Given the description of an element on the screen output the (x, y) to click on. 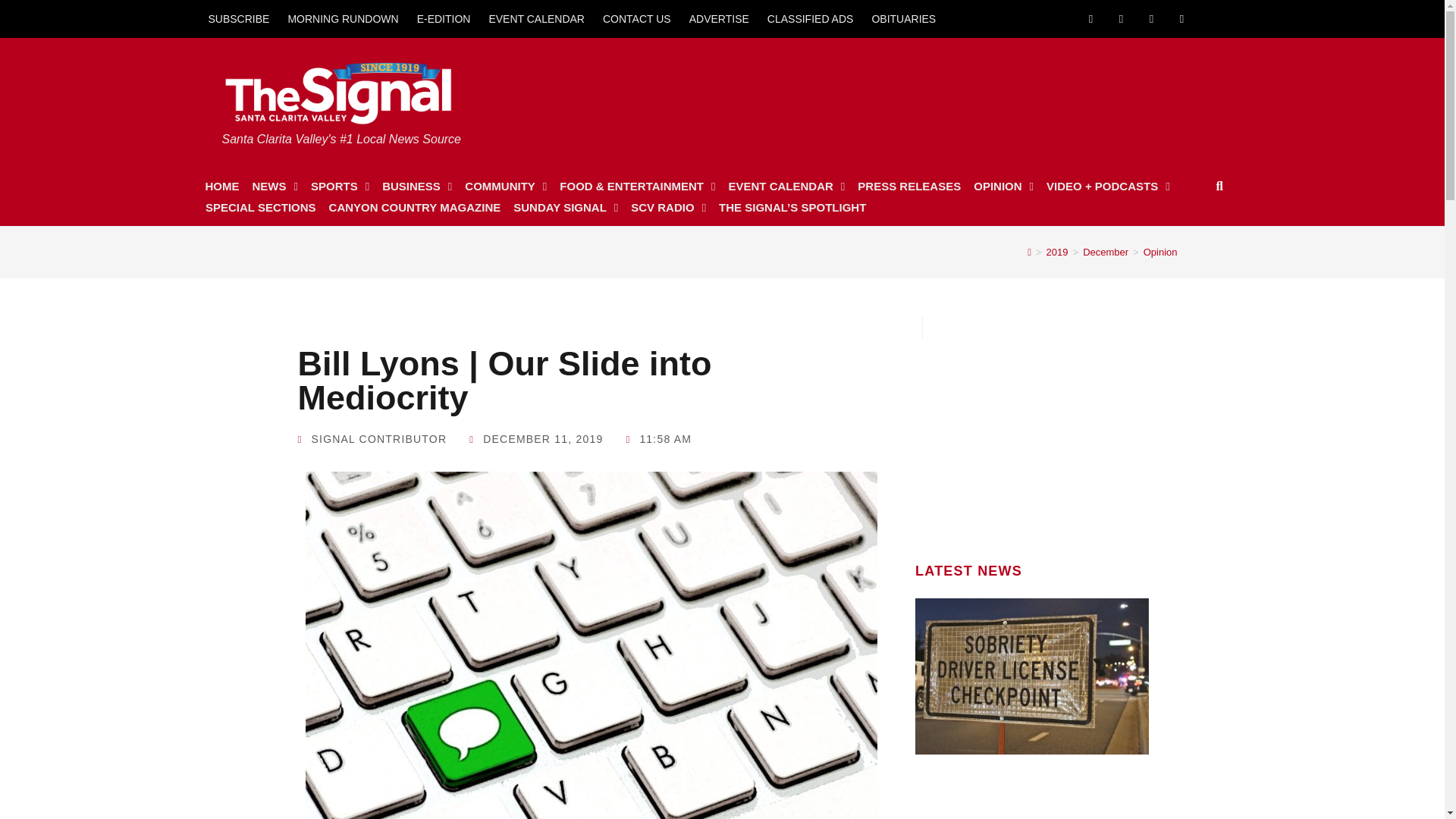
HOME (221, 186)
CONTACT US (636, 18)
OBITUARIES (902, 18)
ADVERTISE (718, 18)
EVENT CALENDAR (536, 18)
SUBSCRIBE (238, 18)
MORNING RUNDOWN (342, 18)
3rd party ad content (1031, 433)
3rd party ad content (932, 94)
NEWS (274, 186)
